Given the description of an element on the screen output the (x, y) to click on. 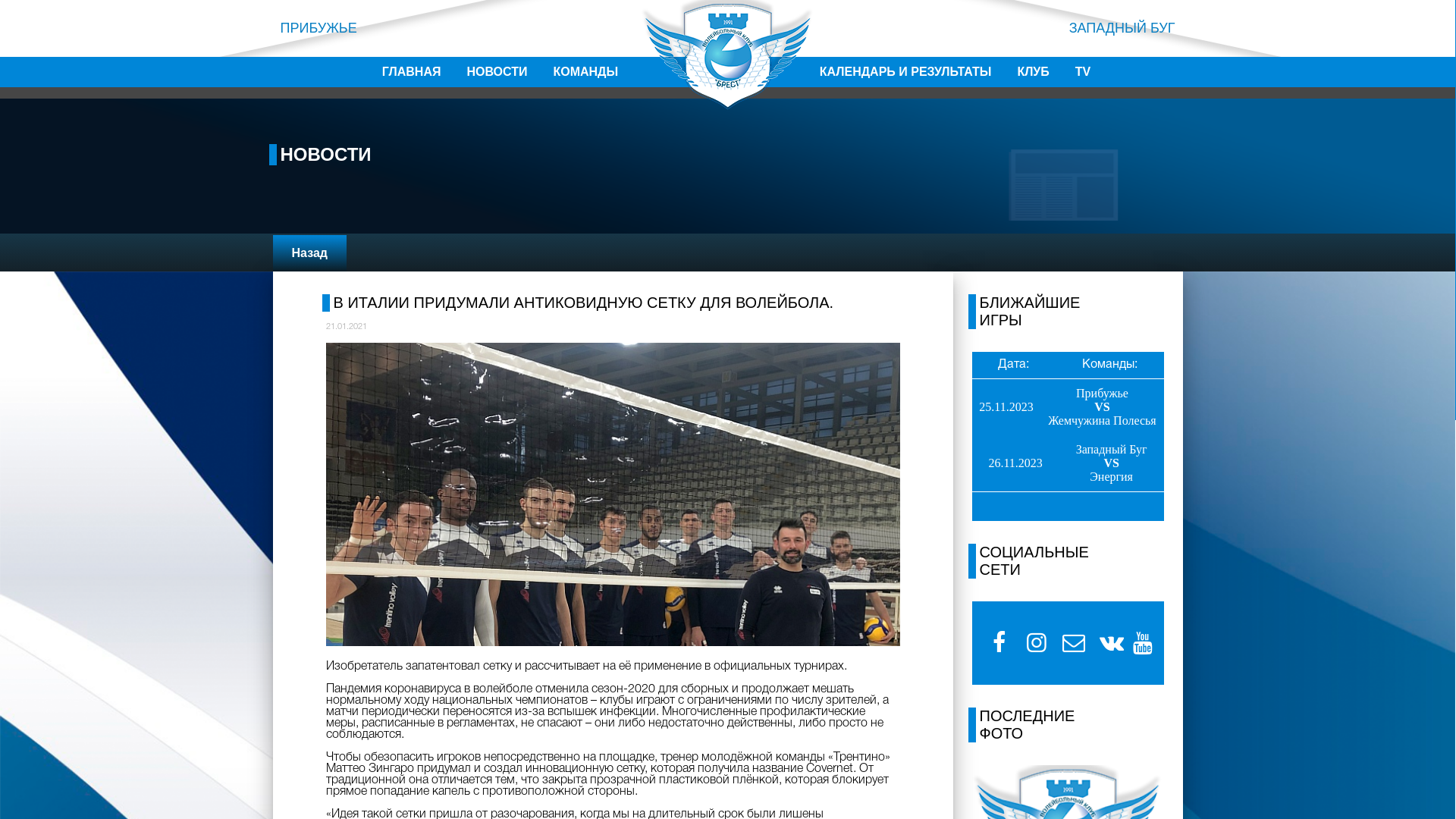
TV Element type: text (1082, 71)
